Given the description of an element on the screen output the (x, y) to click on. 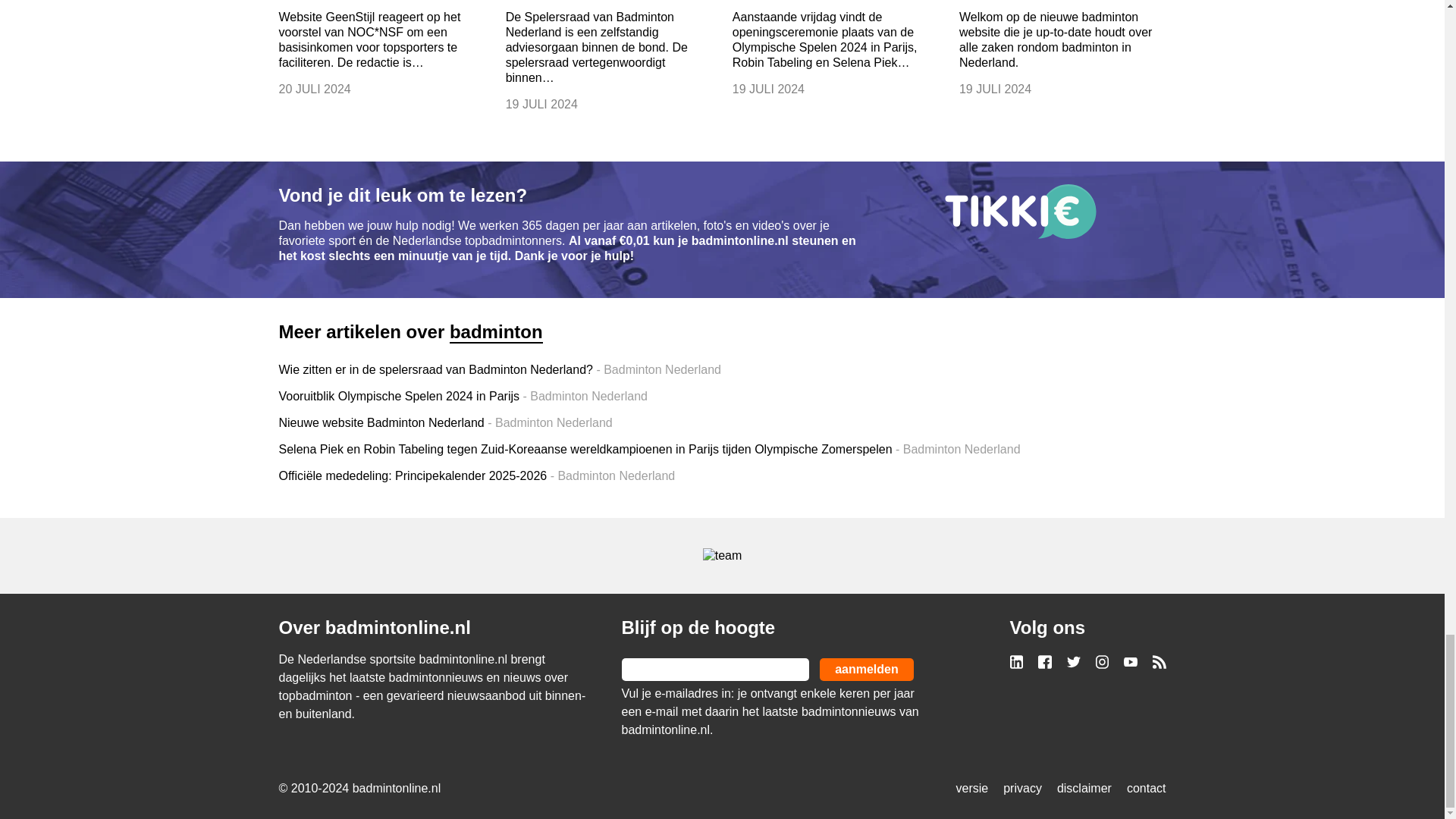
aanmelden (866, 669)
